Given the description of an element on the screen output the (x, y) to click on. 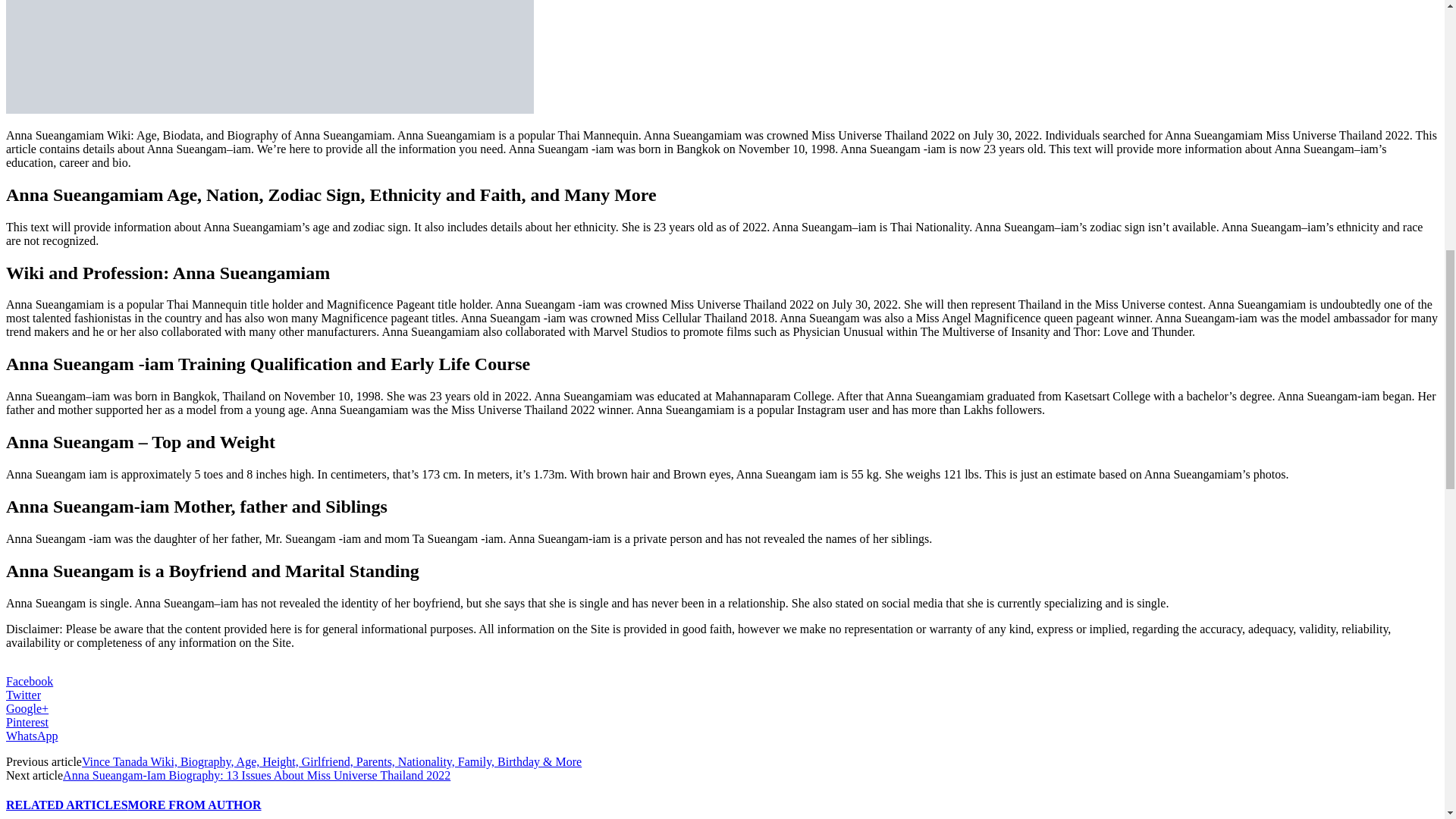
Anna Sueangam (269, 56)
